Given the description of an element on the screen output the (x, y) to click on. 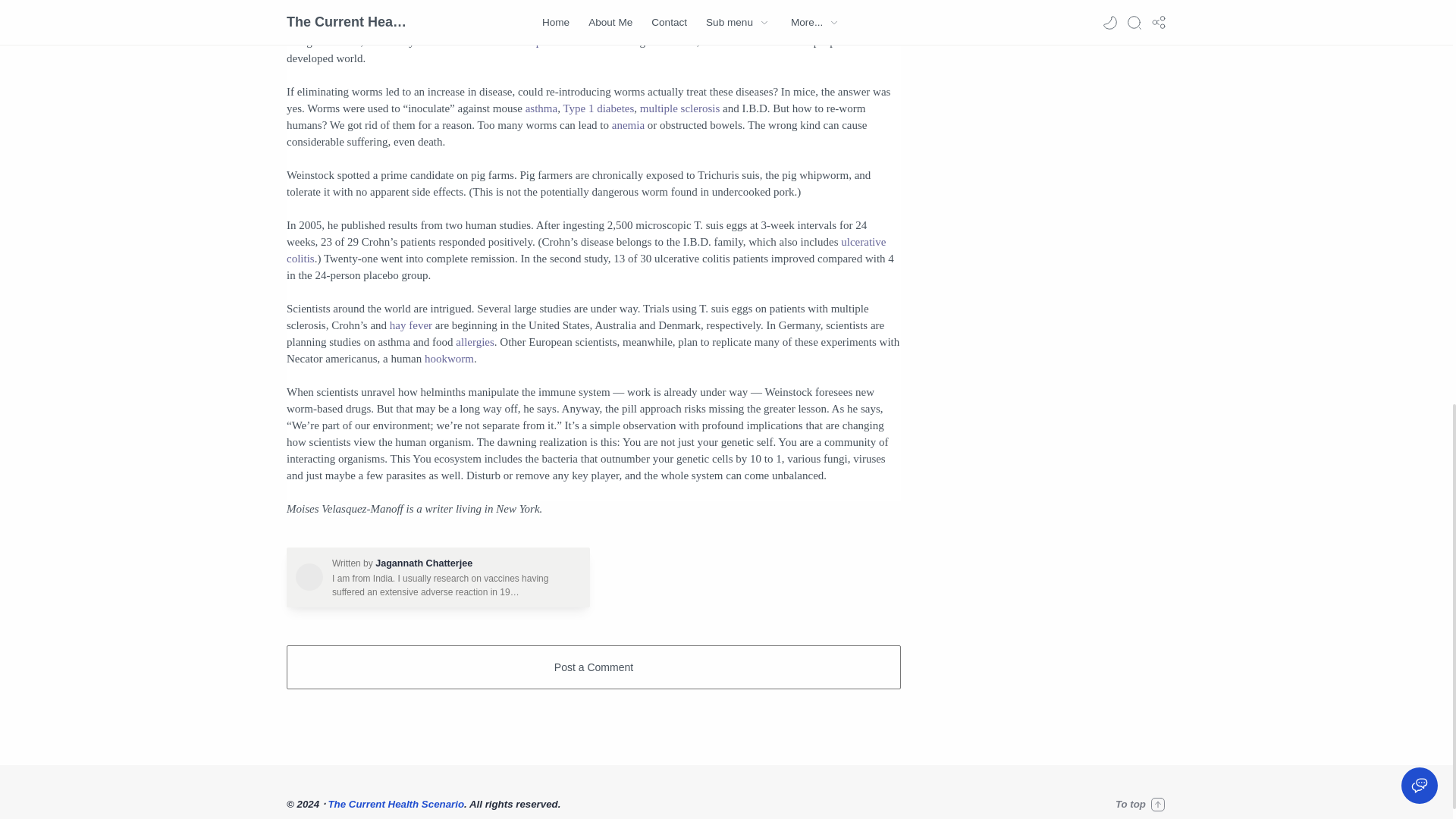
In-depth reference and news articles about Asthma. (541, 108)
In-depth reference and news articles about Anemia. (628, 124)
In-depth reference and news articles about Type 1 diabetes. (597, 108)
In-depth reference and news articles about Allergies. (475, 341)
In-depth reference and news articles about Immune response. (521, 41)
In-depth reference and news articles about Hookworm. (449, 358)
